Given the description of an element on the screen output the (x, y) to click on. 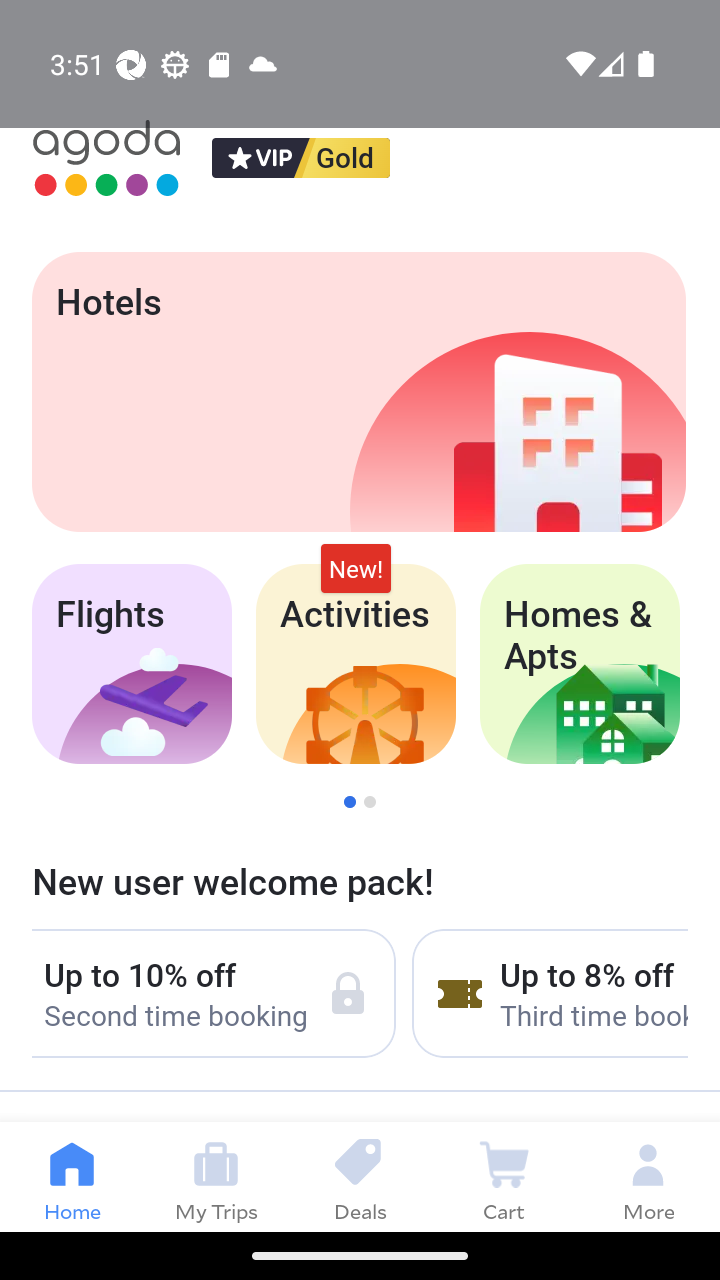
Hotels (358, 392)
New! (355, 568)
Flights (131, 664)
Activities (355, 664)
Homes & Apts (579, 664)
Home (72, 1176)
My Trips (216, 1176)
Deals (360, 1176)
Cart (504, 1176)
More (648, 1176)
